Given the description of an element on the screen output the (x, y) to click on. 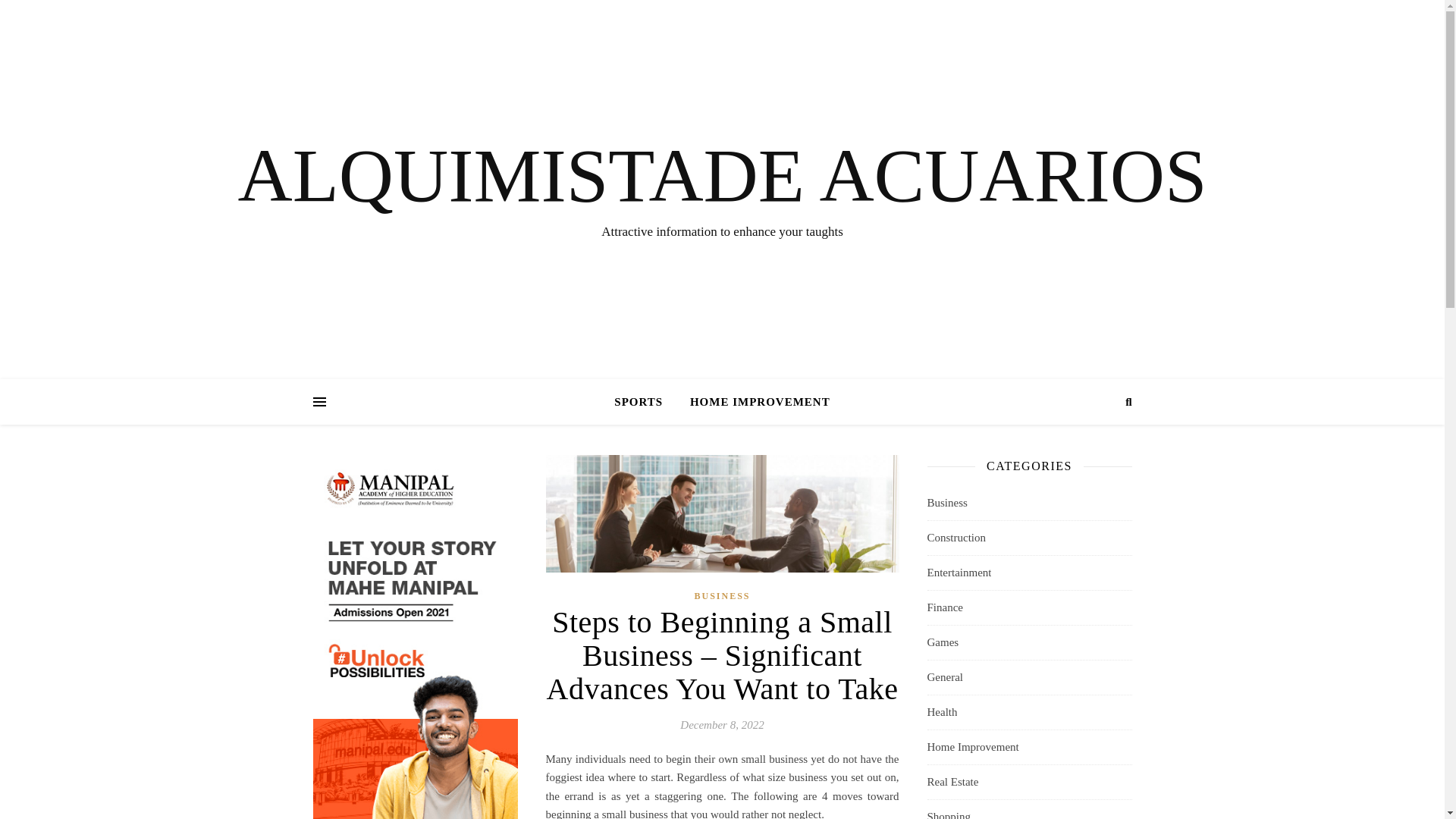
BUSINESS (721, 596)
Construction (955, 537)
Business (946, 503)
General (944, 677)
Real Estate (952, 781)
Games (942, 642)
Shopping (948, 809)
Finance (944, 607)
Entertainment (958, 572)
HOME IMPROVEMENT (753, 402)
